Given the description of an element on the screen output the (x, y) to click on. 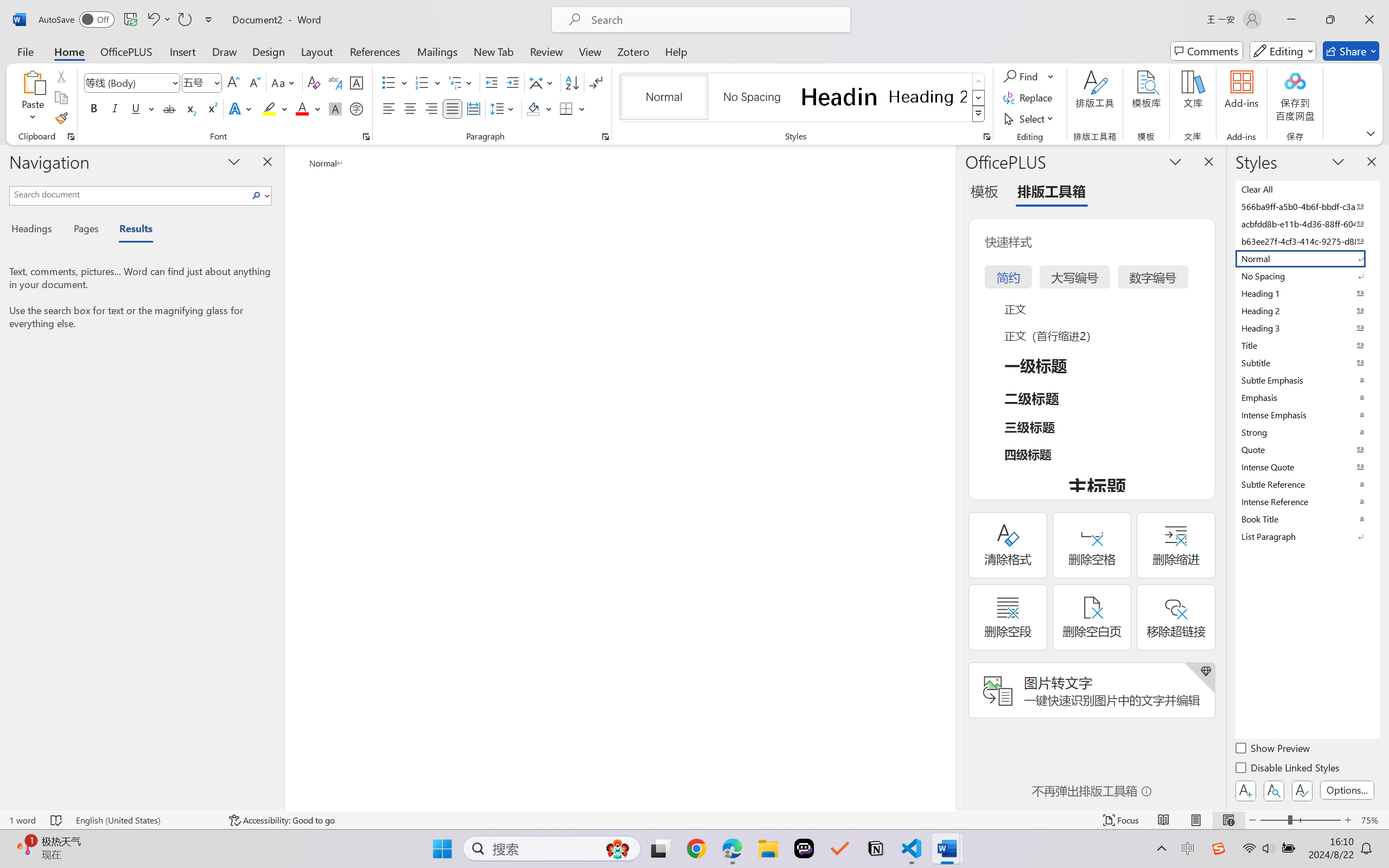
Heading 3 (1306, 327)
Text Effects and Typography (241, 108)
Quick Access Toolbar (127, 19)
Quote (1306, 449)
Microsoft search (715, 19)
Save (130, 19)
Styles... (986, 136)
Superscript (210, 108)
OfficePLUS (126, 51)
Clear Formatting (313, 82)
Home (69, 51)
Row up (978, 81)
Word Count 1 word (21, 819)
AutomationID: BadgeAnchorLargeTicker (24, 847)
